Given the description of an element on the screen output the (x, y) to click on. 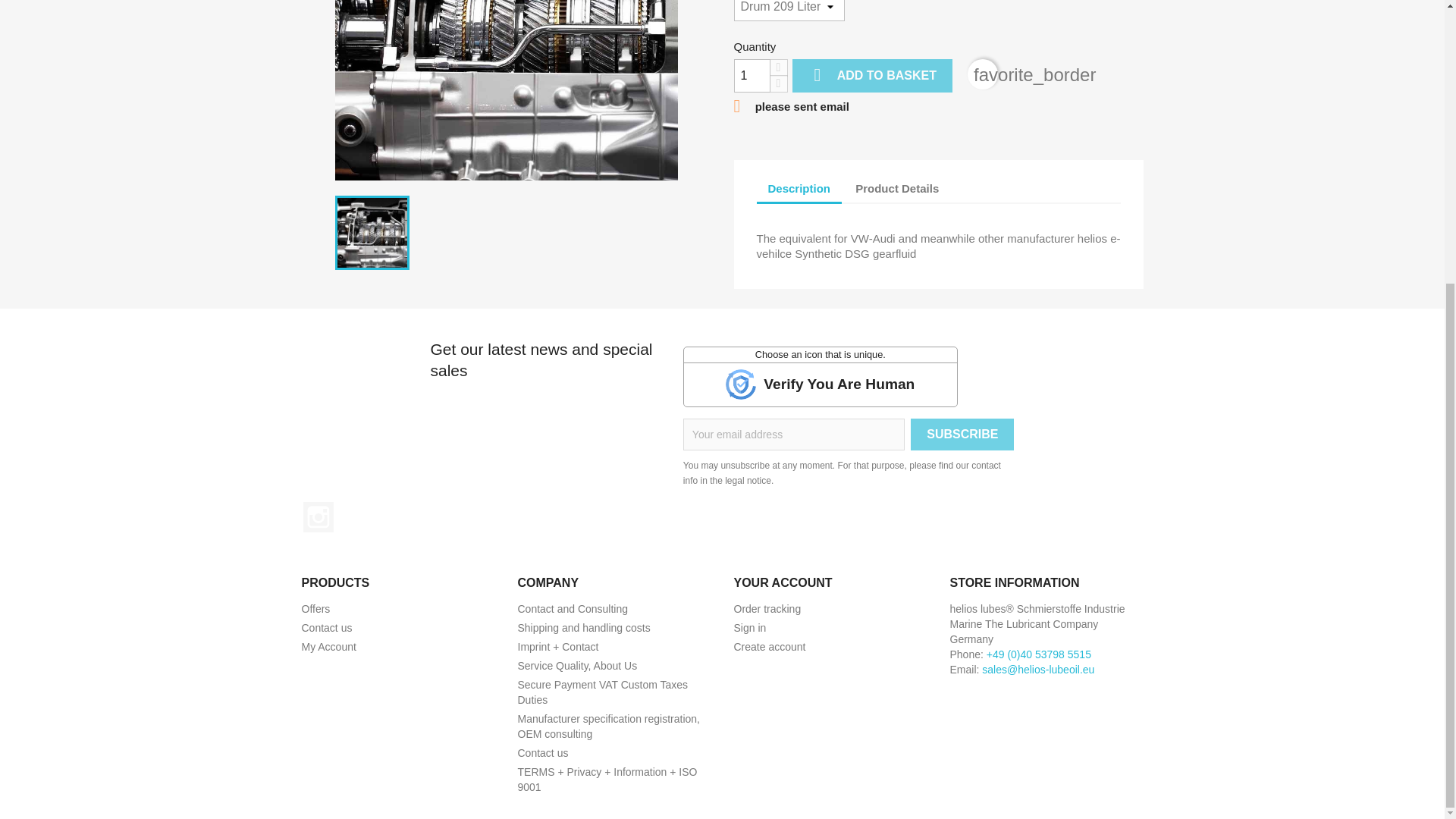
Shipping and handling costs, cancelation fees (582, 627)
Our Safety Payment Methods (601, 691)
Service Quality, About Us (576, 665)
helios-000013417784-ATF-Synthetic-DSG (371, 232)
Use our contact form (326, 627)
Create account (769, 646)
Lubricant Contact and Consulting (571, 608)
Manufacturer specification registration, OEM consulting (607, 726)
Subscribe (962, 434)
helios-000013417784-ATF-Synthetic-DSG (506, 90)
